Given the description of an element on the screen output the (x, y) to click on. 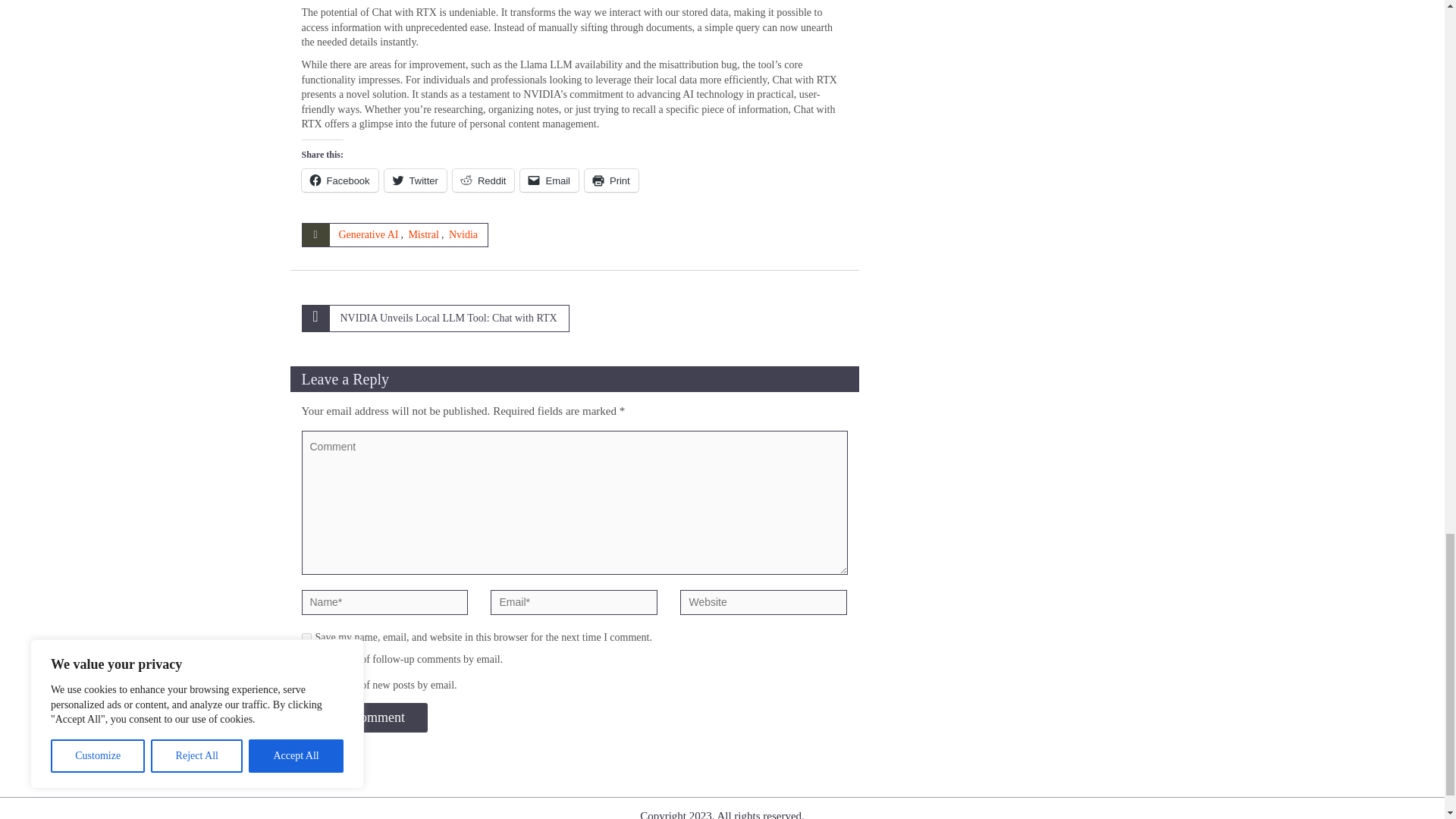
Click to share on Twitter (415, 179)
Mistral (422, 234)
Print (612, 179)
yes (306, 637)
Nvidia (462, 234)
Facebook (339, 179)
Click to share on Facebook (339, 179)
Generative AI (367, 234)
Click to share on Reddit (483, 179)
Email (548, 179)
subscribe (306, 660)
subscribe (306, 685)
Reddit (483, 179)
Click to print (612, 179)
Click to email a link to a friend (548, 179)
